Given the description of an element on the screen output the (x, y) to click on. 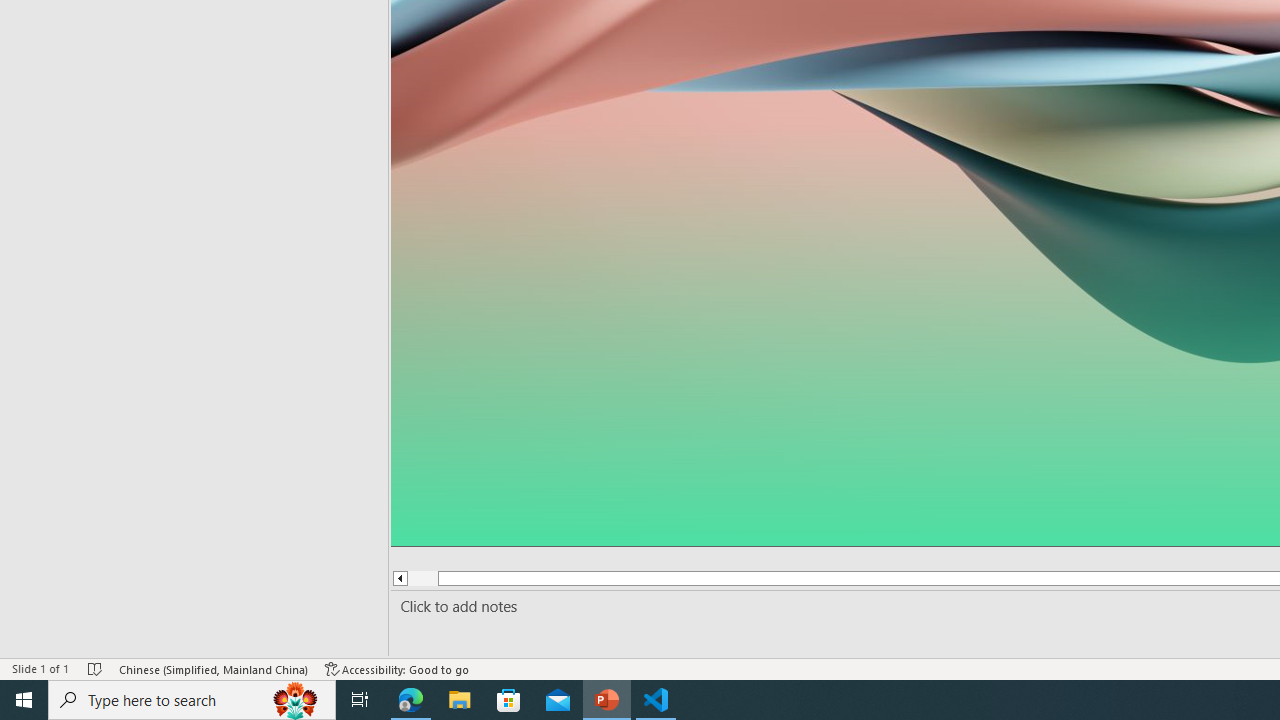
Accessibility Checker Accessibility: Good to go (397, 668)
